Given the description of an element on the screen output the (x, y) to click on. 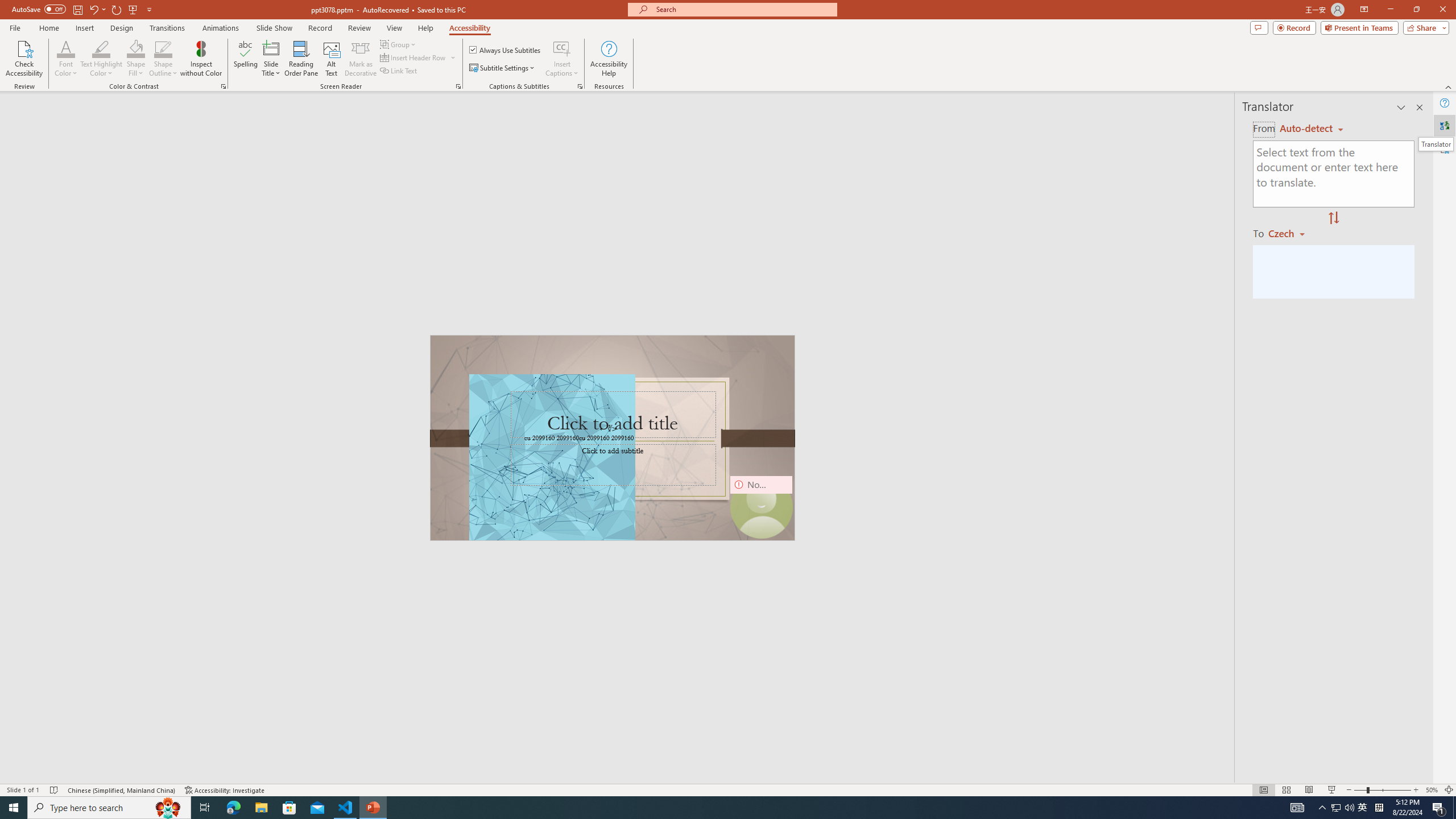
Insert Captions (561, 48)
Text Highlight Color (100, 48)
Font Color (65, 58)
English (1310, 128)
Translator (1435, 143)
Shape Outline (163, 58)
Alt Text (331, 58)
